Given the description of an element on the screen output the (x, y) to click on. 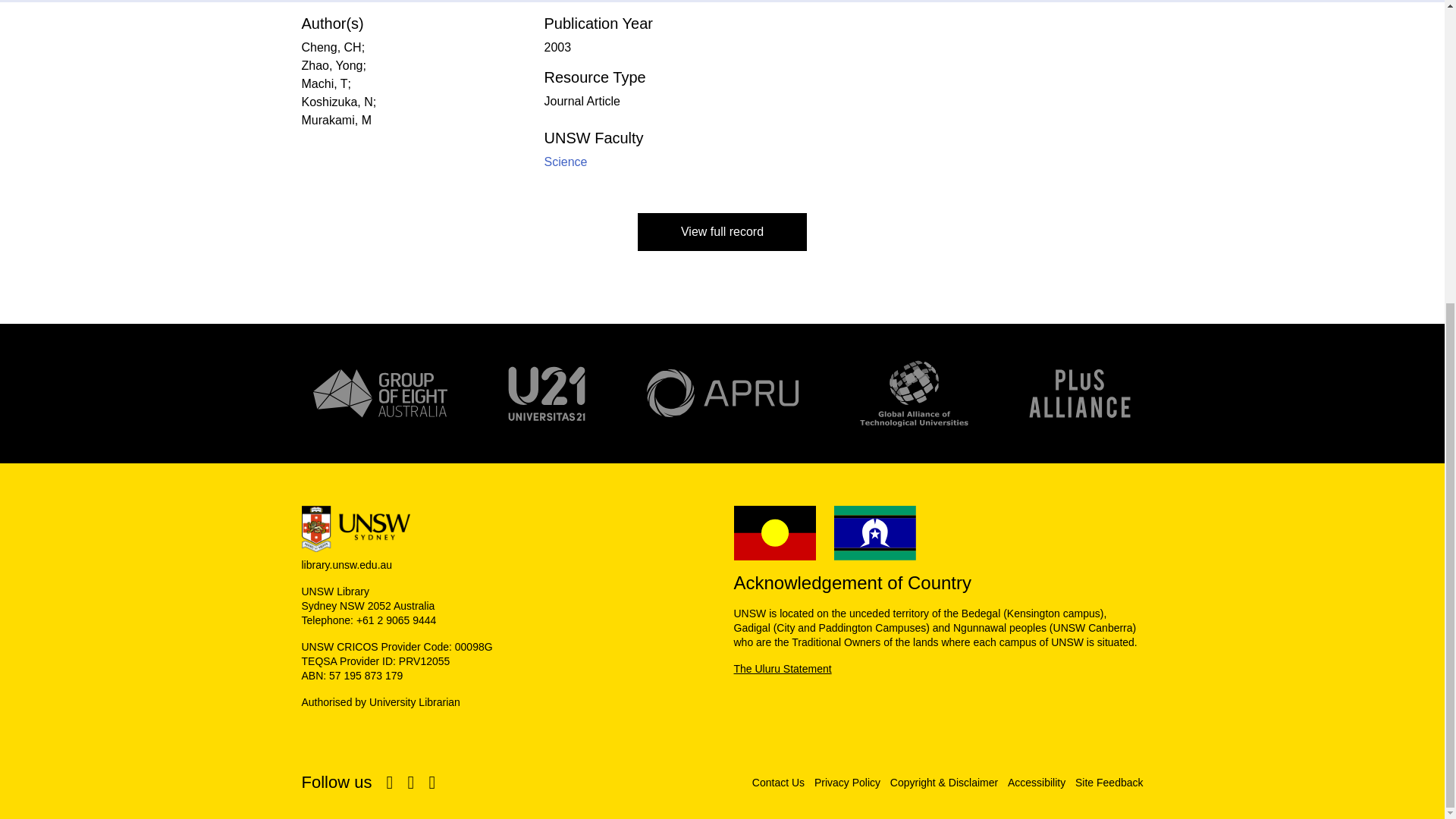
View full record (721, 231)
The Uluru Statement (782, 668)
Privacy Policy (846, 782)
Accessibility (1036, 782)
Contact Us (778, 782)
Science (566, 161)
Site Feedback (1108, 782)
library.unsw.edu.au (506, 546)
